Given the description of an element on the screen output the (x, y) to click on. 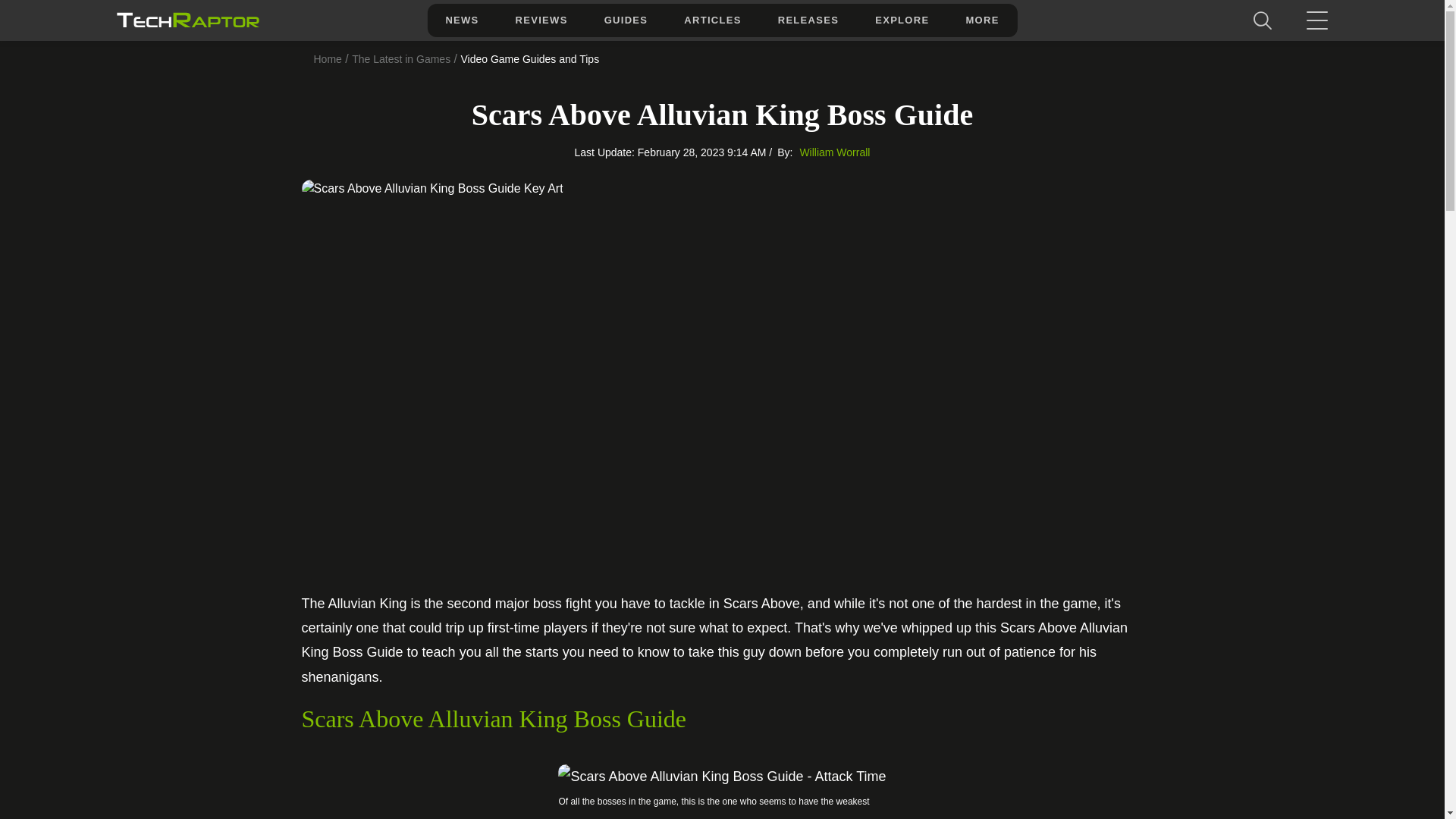
NEWS (461, 20)
RELEASES (807, 20)
REVIEWS (541, 20)
ARTICLES (711, 20)
GUIDES (626, 20)
TechRaptor Home (187, 20)
